Given the description of an element on the screen output the (x, y) to click on. 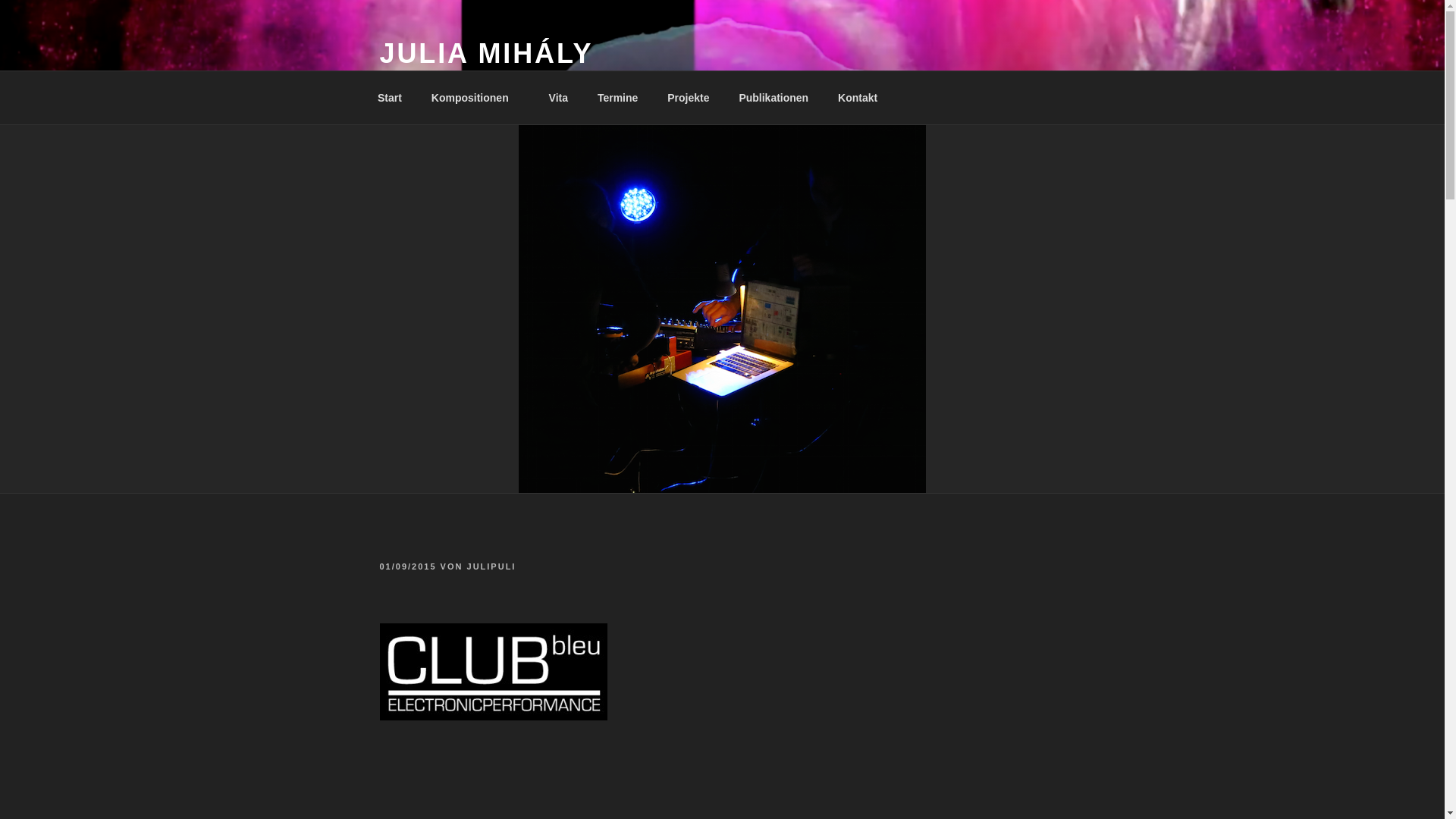
Termine (616, 97)
Start (389, 97)
Kompositionen (474, 97)
Projekte (687, 97)
Vita (557, 97)
CLUBbleu - Live in Frankfurt - 2014 (577, 781)
Publikationen (773, 97)
